Given the description of an element on the screen output the (x, y) to click on. 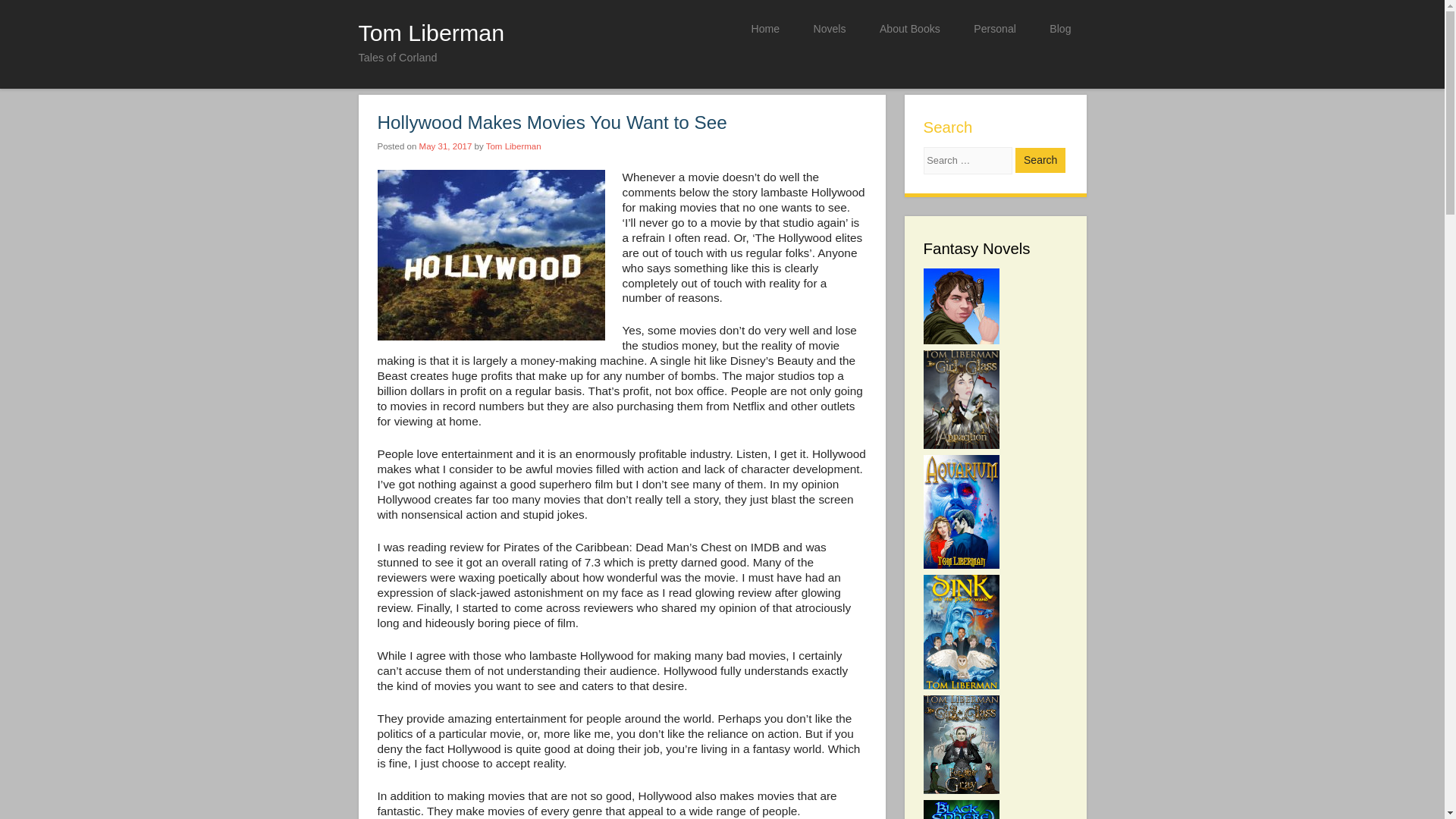
12:45 pm (445, 145)
Tom Liberman (430, 32)
Search (1039, 160)
Tom Liberman (430, 32)
May 31, 2017 (445, 145)
About Books (909, 28)
View all posts by Tom Liberman (513, 145)
Skip to content (769, 27)
Search (1039, 160)
Home (764, 28)
Blog (1059, 28)
Personal (994, 28)
Skip to content (769, 27)
Tom Liberman (513, 145)
Novels (828, 28)
